Given the description of an element on the screen output the (x, y) to click on. 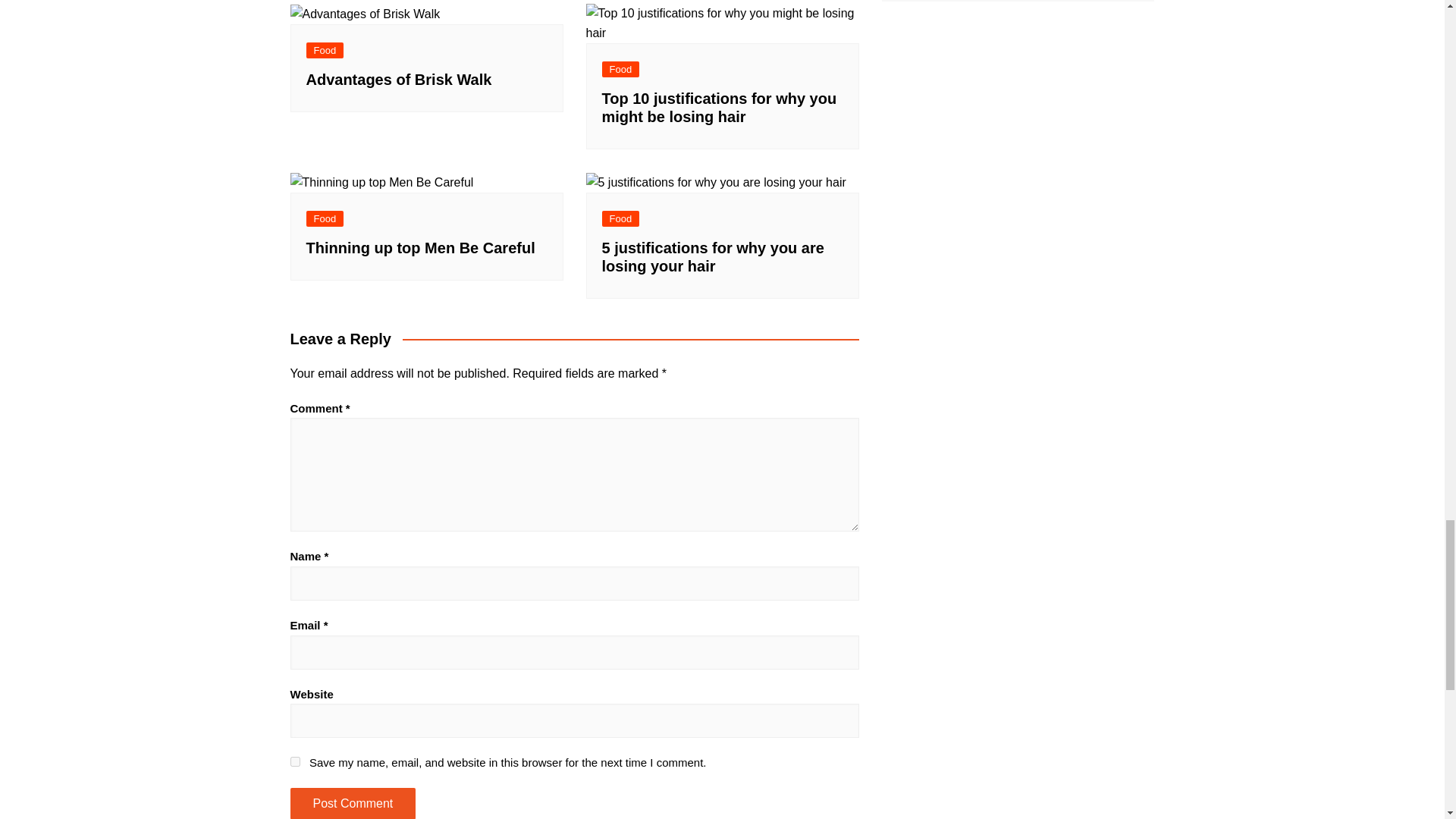
Thinning up top Men Be Careful (381, 182)
yes (294, 761)
5 justifications for why you are losing your hair (715, 182)
Advantages of Brisk Walk (364, 14)
Top 10 justifications for why you might be losing hair (722, 23)
Post Comment (351, 803)
